Given the description of an element on the screen output the (x, y) to click on. 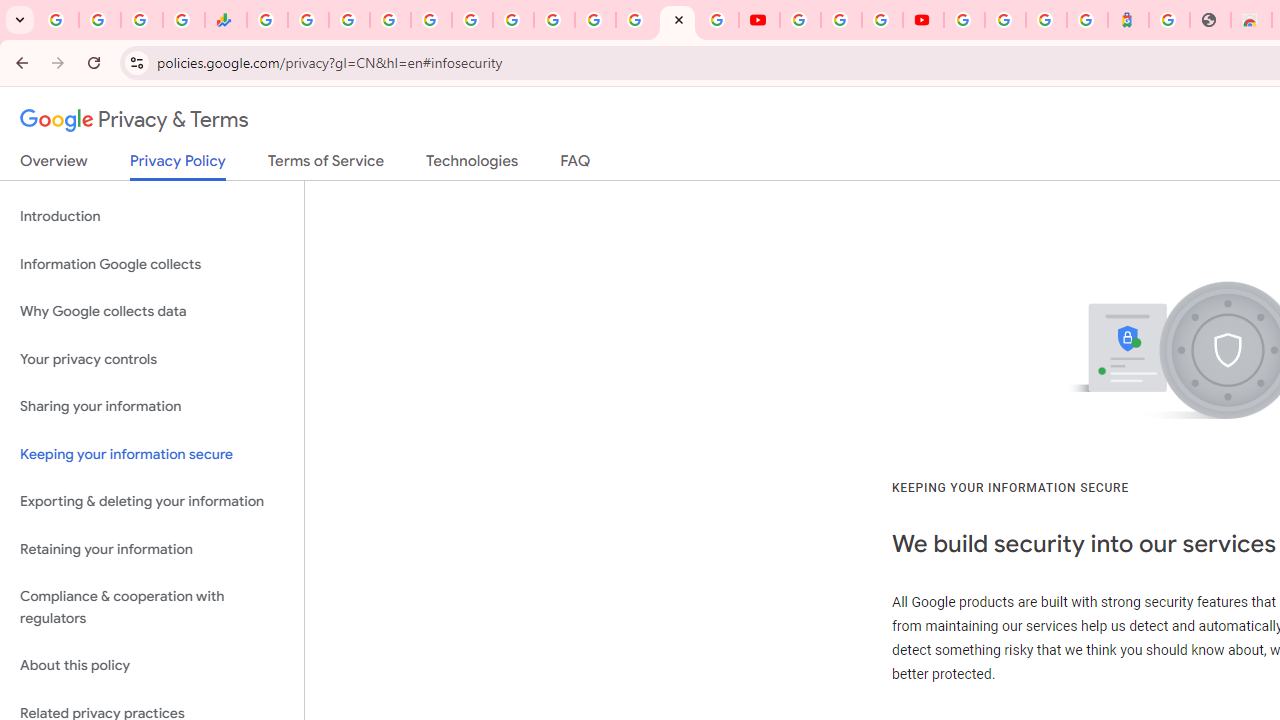
Technologies (472, 165)
Google Workspace Admin Community (58, 20)
Sign in - Google Accounts (1005, 20)
